Given the description of an element on the screen output the (x, y) to click on. 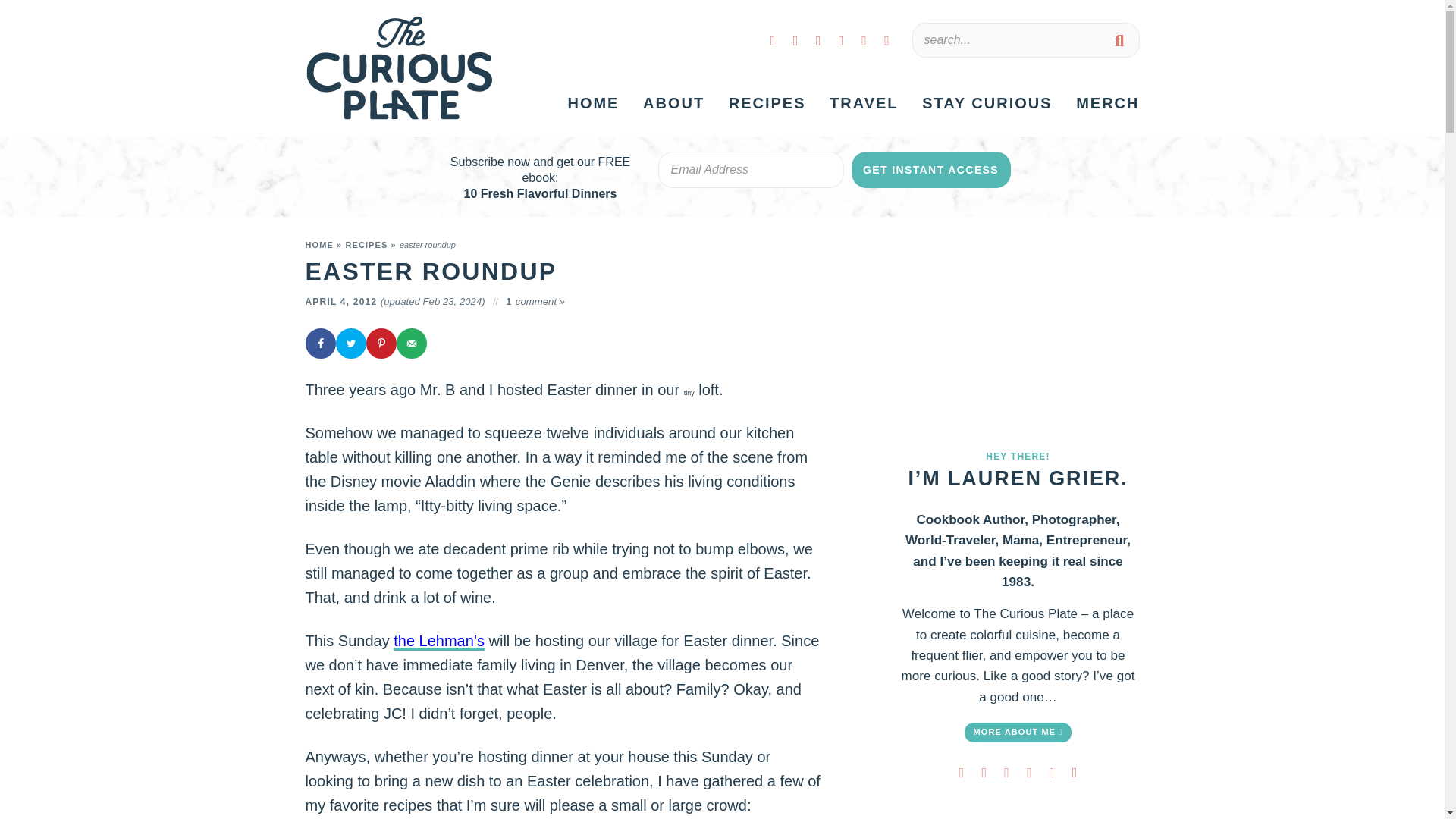
Share on Twitter (349, 343)
Send over email (411, 343)
RECIPES (766, 103)
The Curious Plate (398, 68)
ABOUT (673, 103)
Save to Pinterest (380, 343)
Share on Facebook (319, 343)
HOME (593, 103)
